Given the description of an element on the screen output the (x, y) to click on. 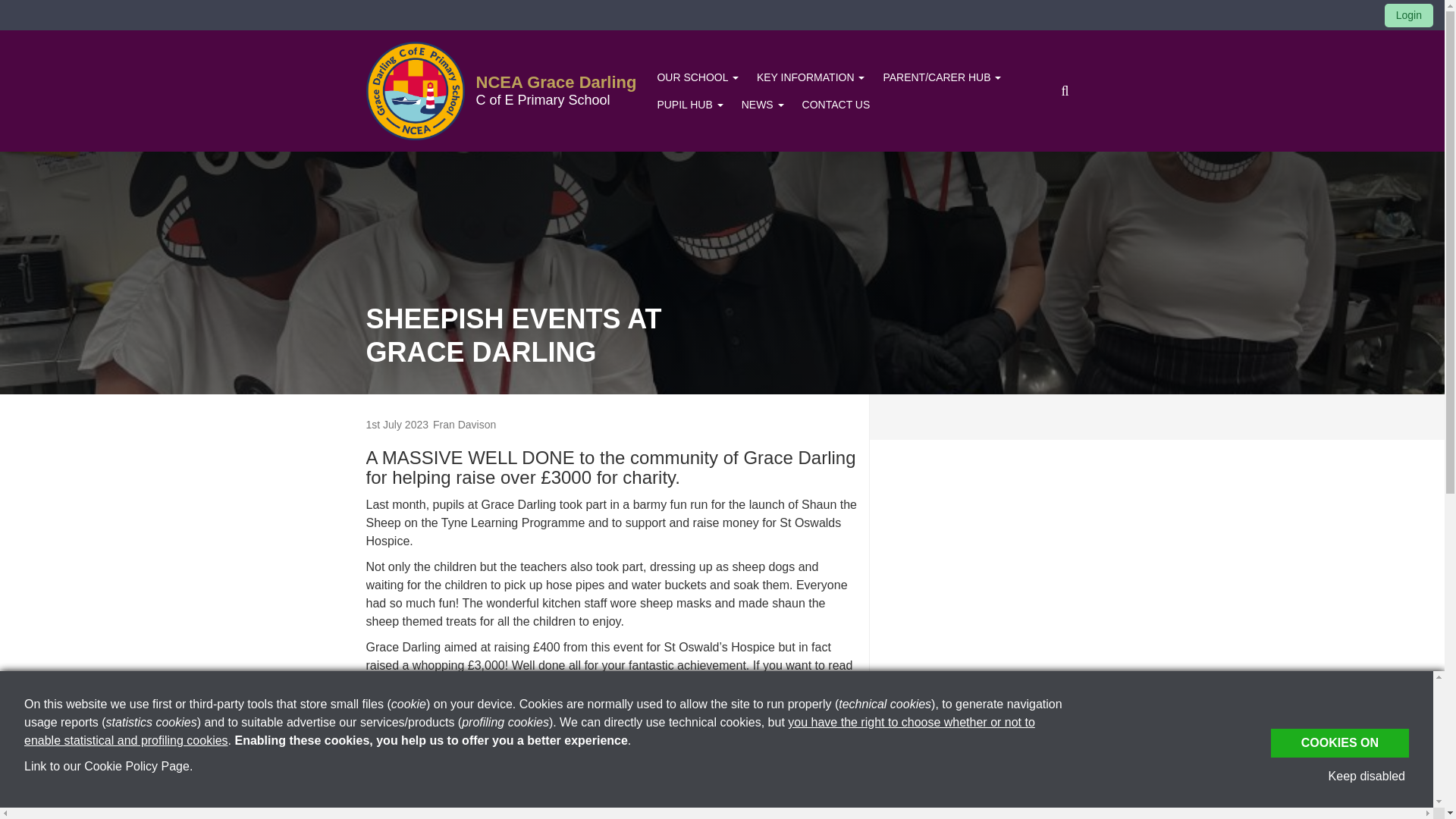
KEY INFORMATION (811, 76)
NCEA Grace Darling (556, 81)
Login (1408, 14)
OUR SCHOOL (697, 76)
Our School (697, 76)
Key Information (811, 76)
NCEA Grace Darling (556, 81)
